Given the description of an element on the screen output the (x, y) to click on. 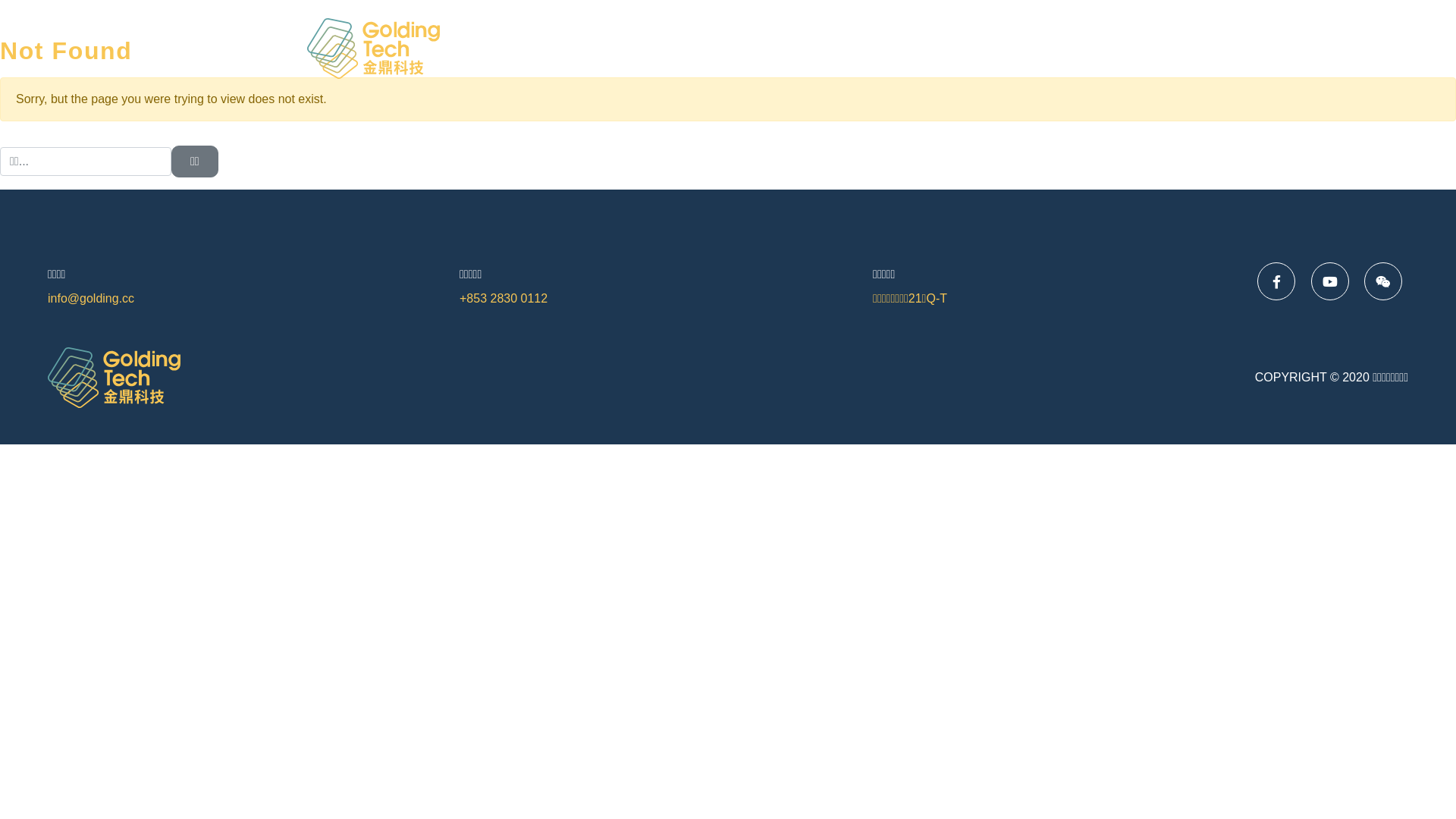
EN Element type: text (1125, 48)
AI Element type: text (955, 48)
